Given the description of an element on the screen output the (x, y) to click on. 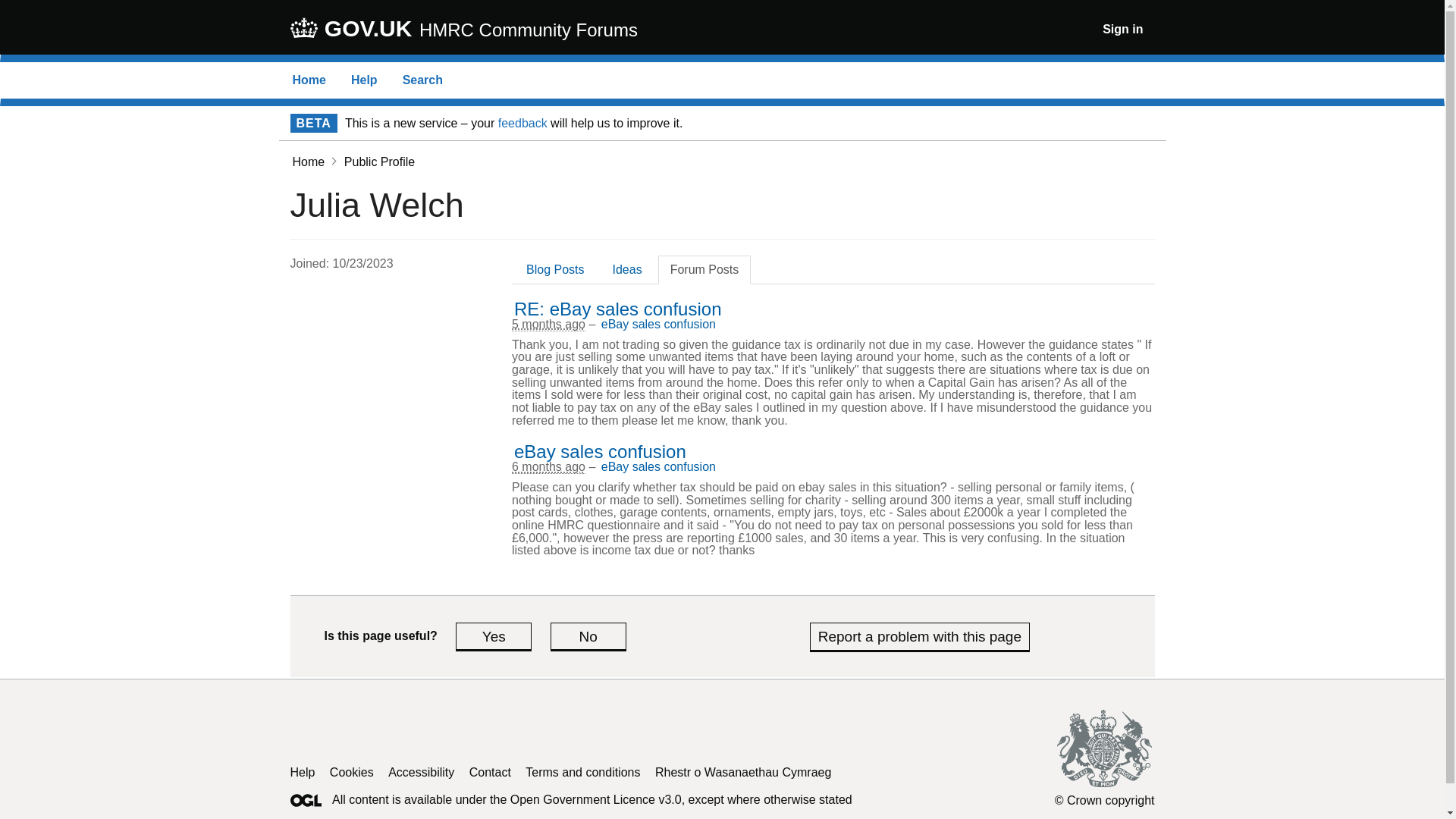
Search (422, 79)
Home (309, 79)
Home (308, 161)
Help (363, 79)
HMRC Community Forums (528, 29)
Forum Posts (704, 269)
Sign in (1122, 29)
Home (309, 79)
Blog Posts (554, 269)
Help (301, 771)
eBay sales confusion (599, 451)
Sign in (1122, 29)
feedback (522, 123)
Accessibility (421, 771)
Search (422, 79)
